Given the description of an element on the screen output the (x, y) to click on. 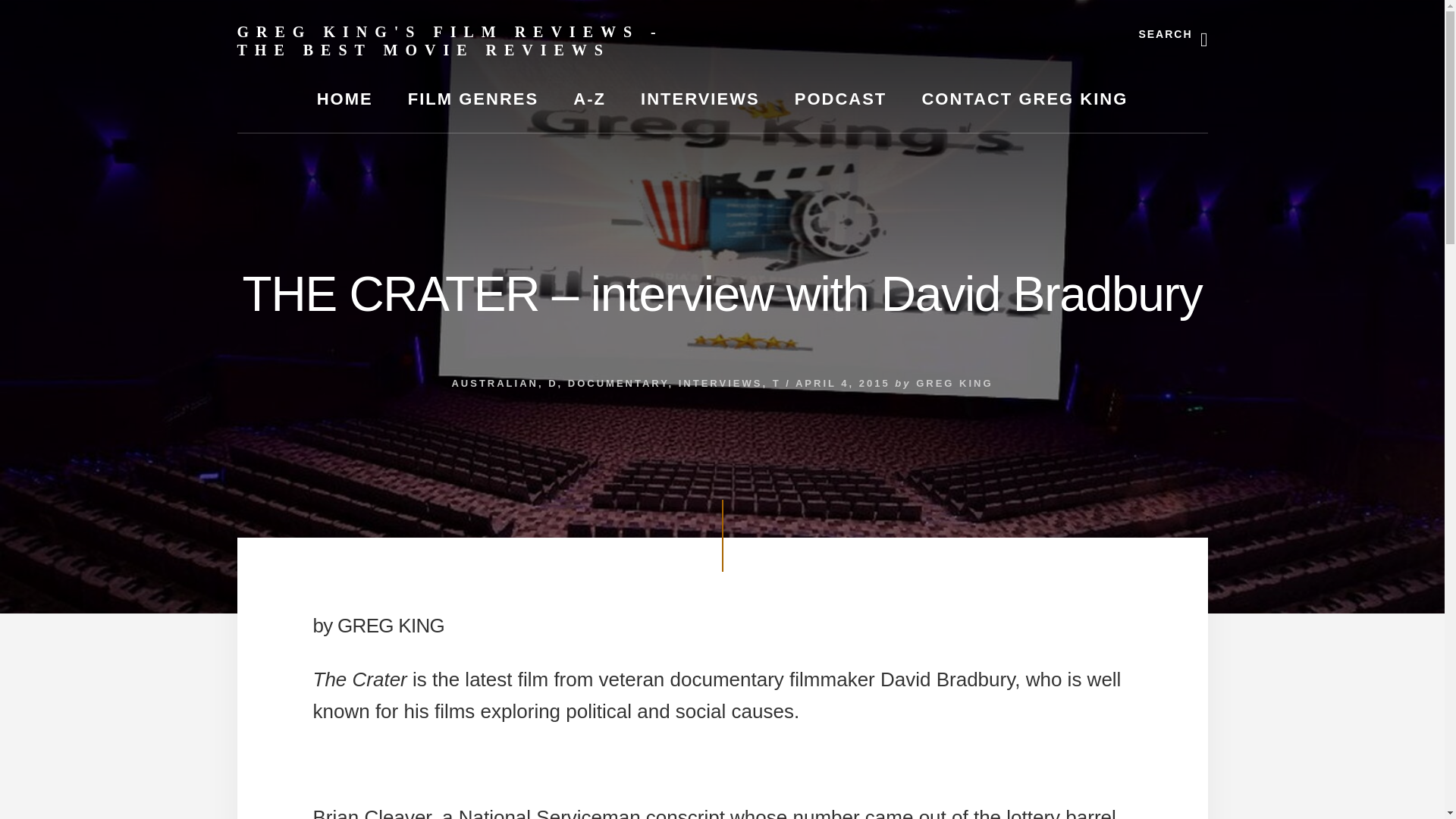
HOME (344, 99)
A-Z (589, 99)
FILM GENRES (473, 99)
GREG KING'S FILM REVIEWS - THE BEST MOVIE REVIEWS (448, 40)
